Given the description of an element on the screen output the (x, y) to click on. 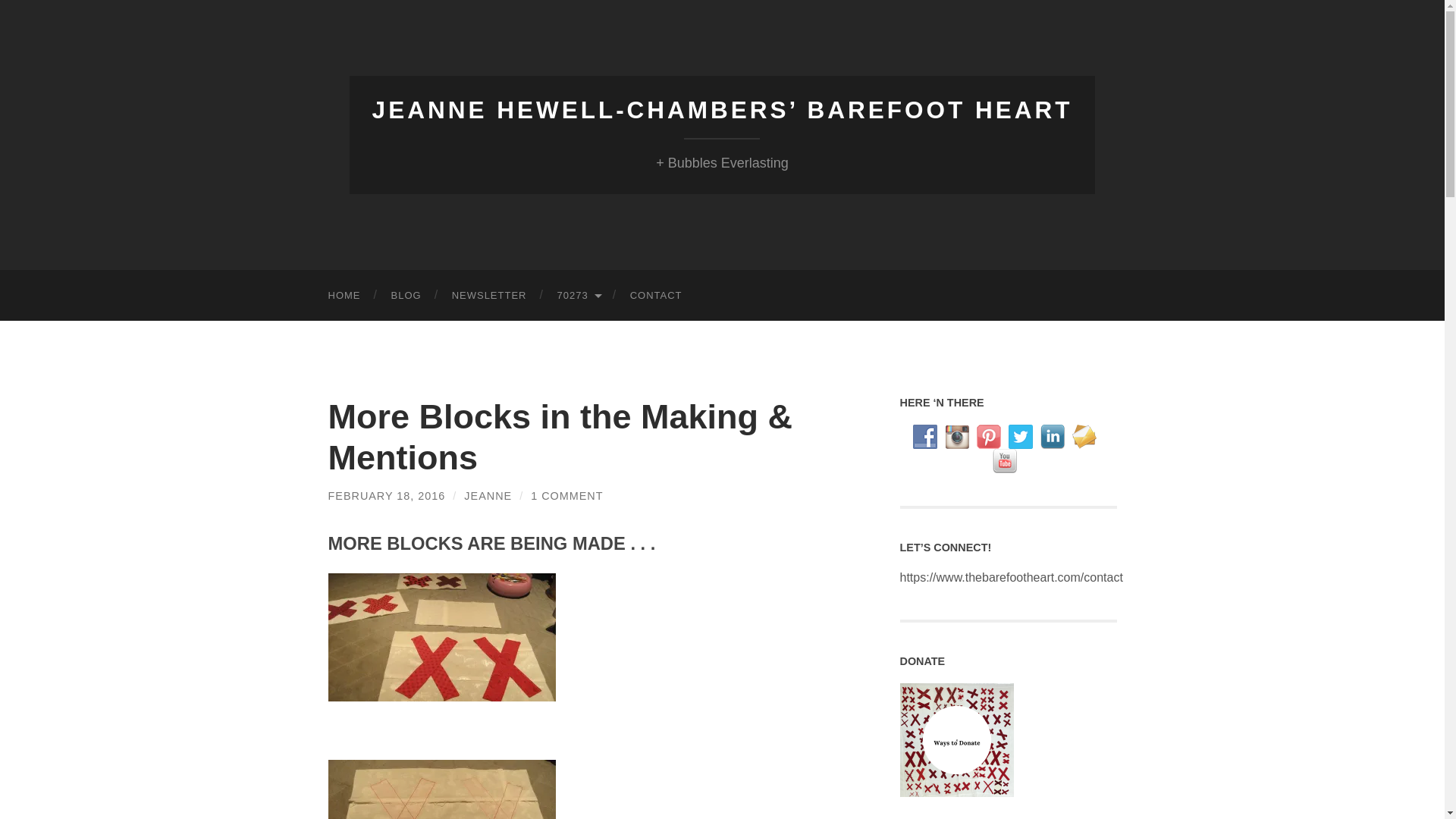
Linked In (1052, 436)
Facebook Page (924, 436)
70273 (577, 295)
BLOG (405, 295)
Posts by jeanne (488, 495)
X (1020, 436)
HOME (344, 295)
FEBRUARY 18, 2016 (386, 495)
Email (1083, 436)
Pinterest (988, 436)
